Given the description of an element on the screen output the (x, y) to click on. 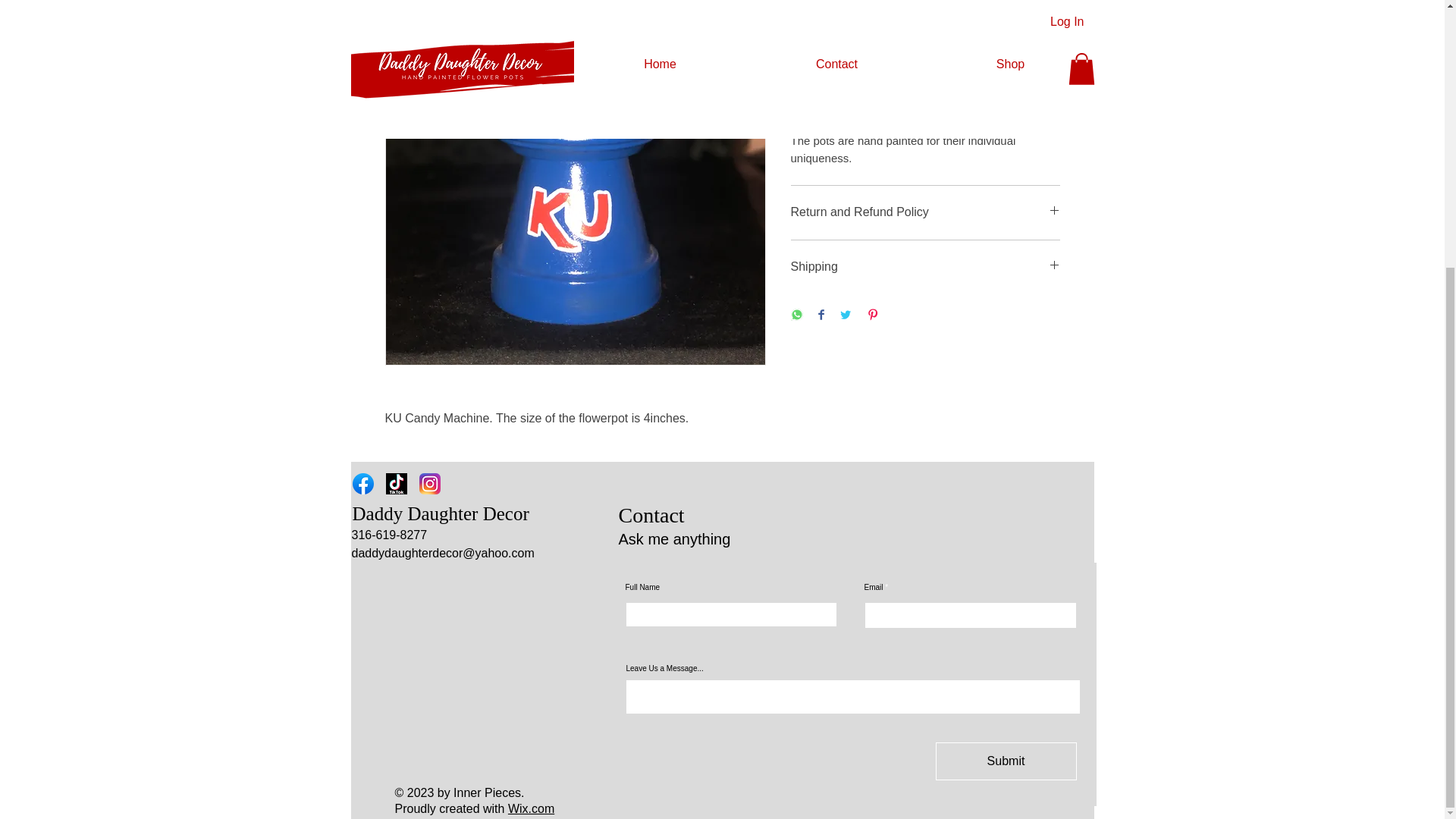
Product Information (924, 76)
Return and Refund Policy (924, 211)
Shipping (924, 266)
Add to Cart (924, 17)
Wix.com (531, 808)
Submit (1006, 761)
